Given the description of an element on the screen output the (x, y) to click on. 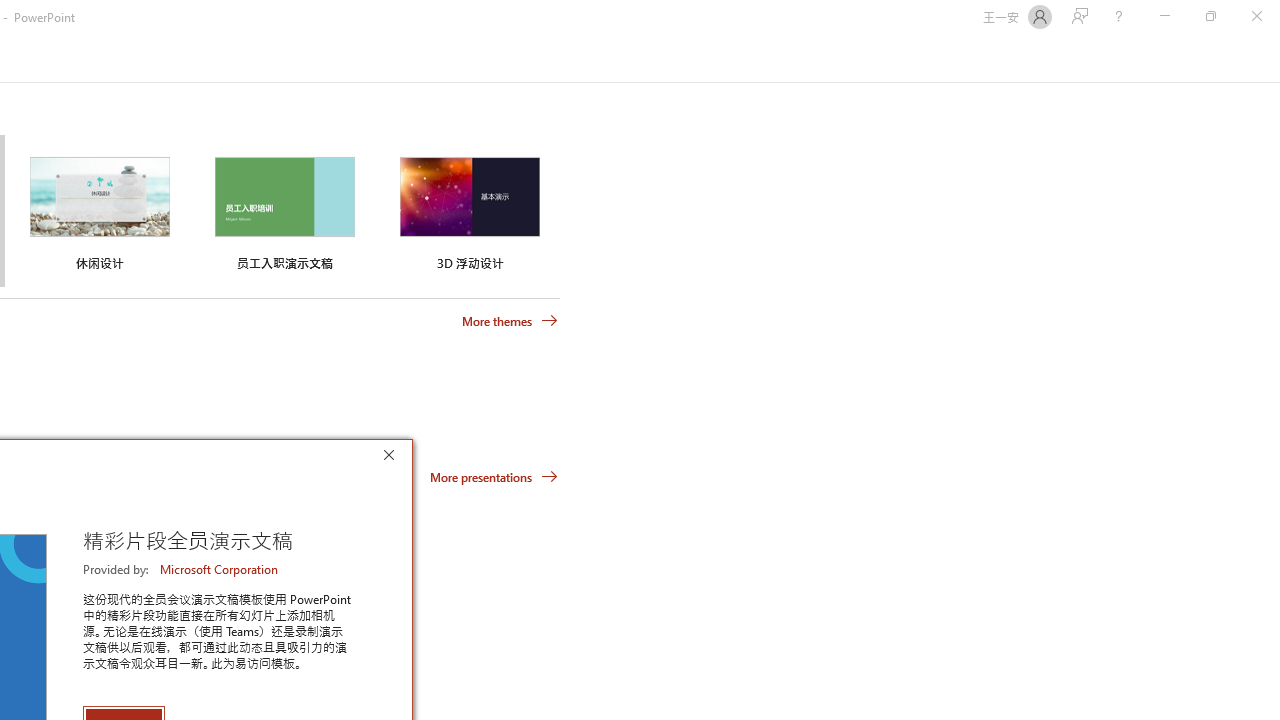
More presentations (493, 476)
Microsoft Corporation (220, 569)
Class: NetUIScrollBar (1271, 59)
More themes (509, 321)
